Given the description of an element on the screen output the (x, y) to click on. 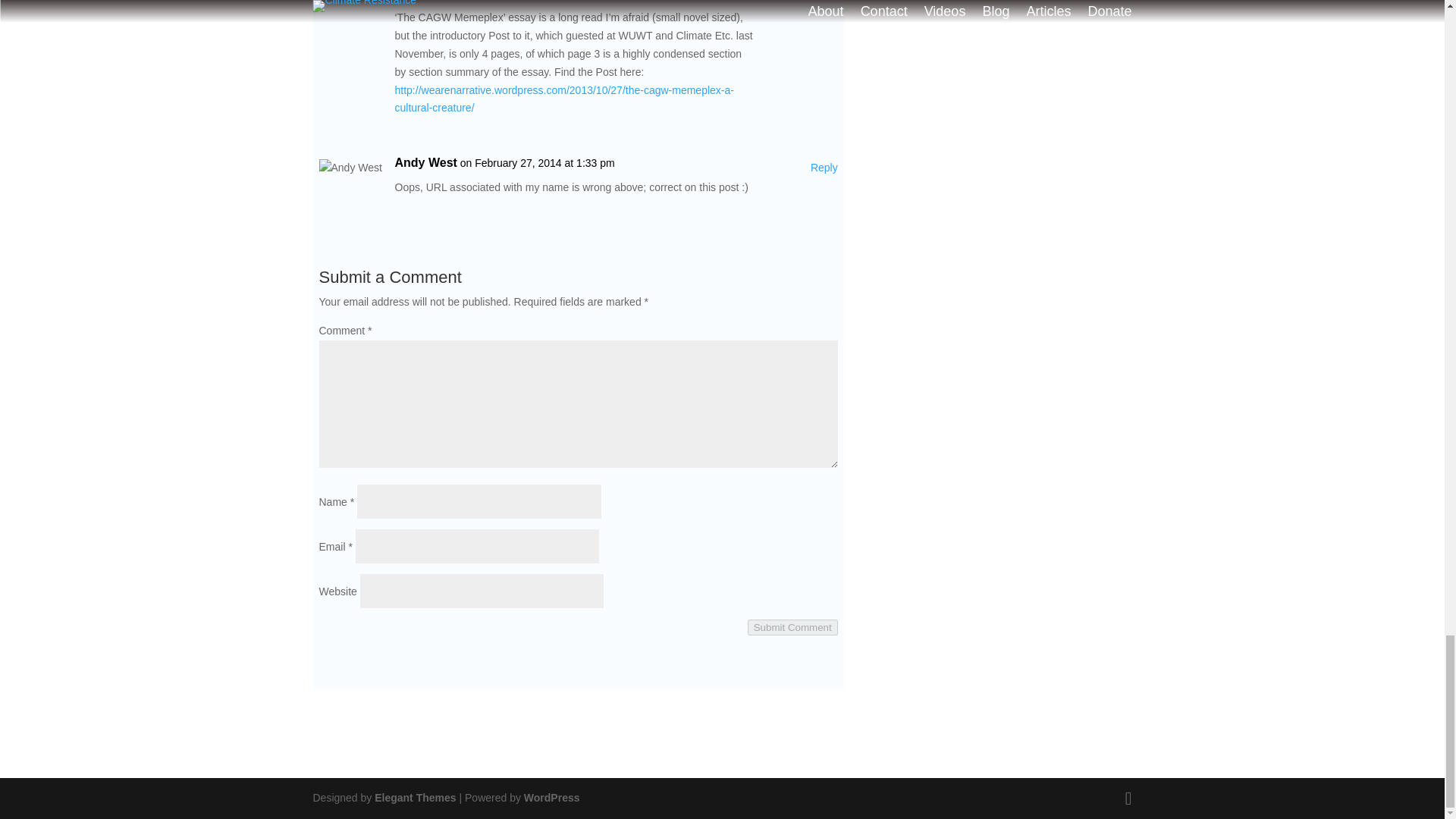
Andy West (425, 162)
Reply (824, 167)
Submit Comment (793, 627)
Premium WordPress Themes (414, 797)
